Given the description of an element on the screen output the (x, y) to click on. 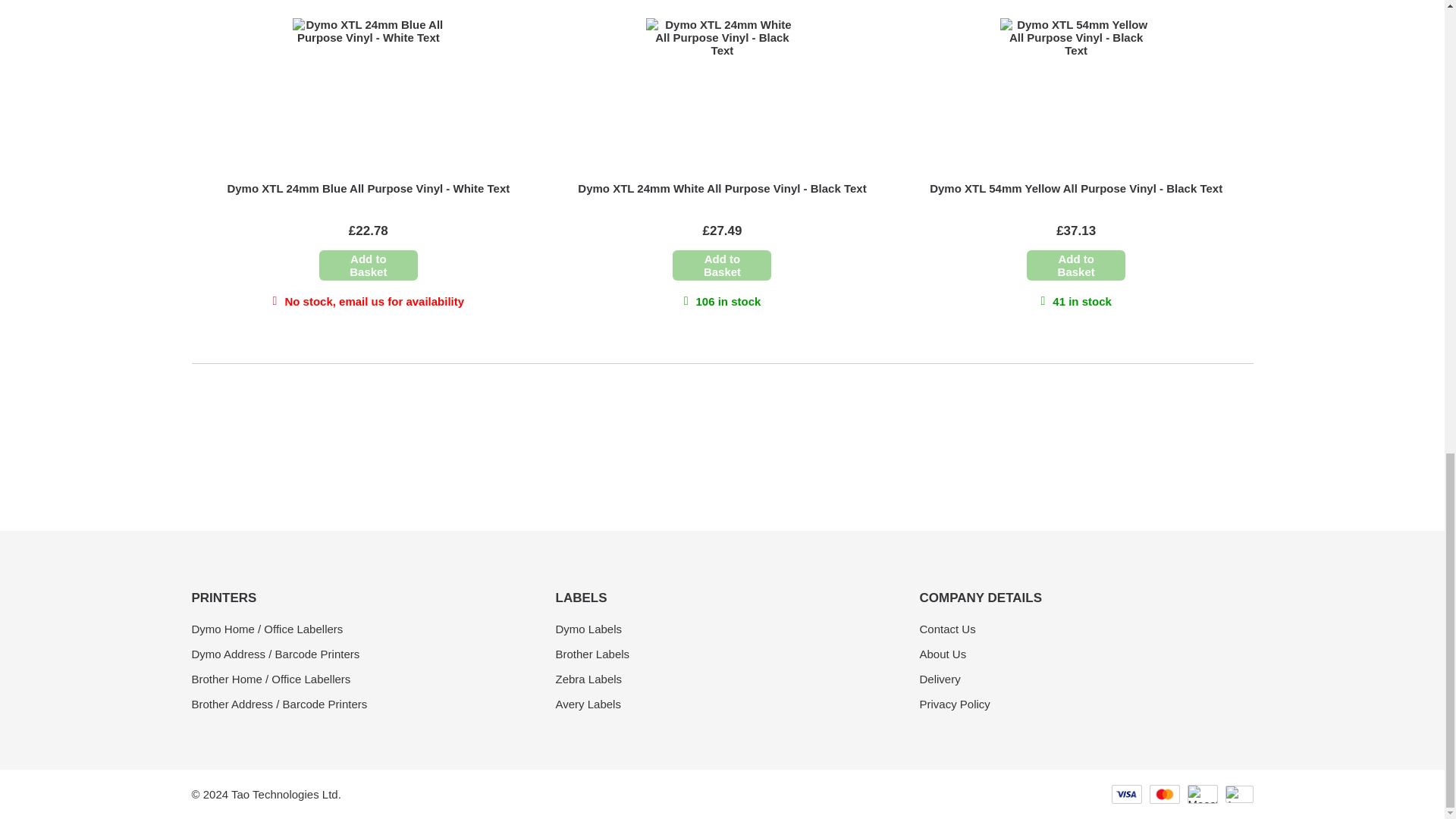
Dymo XTL 24mm White All Purpose Vinyl - Black Text (722, 187)
Add to Basket (721, 265)
Dymo XTL 54mm Yellow All Purpose Vinyl - Black Text (1076, 187)
Add to Basket (367, 265)
Dymo XTL 24mm Blue All Purpose Vinyl - White Text (368, 187)
Add to Basket (1075, 265)
